Given the description of an element on the screen output the (x, y) to click on. 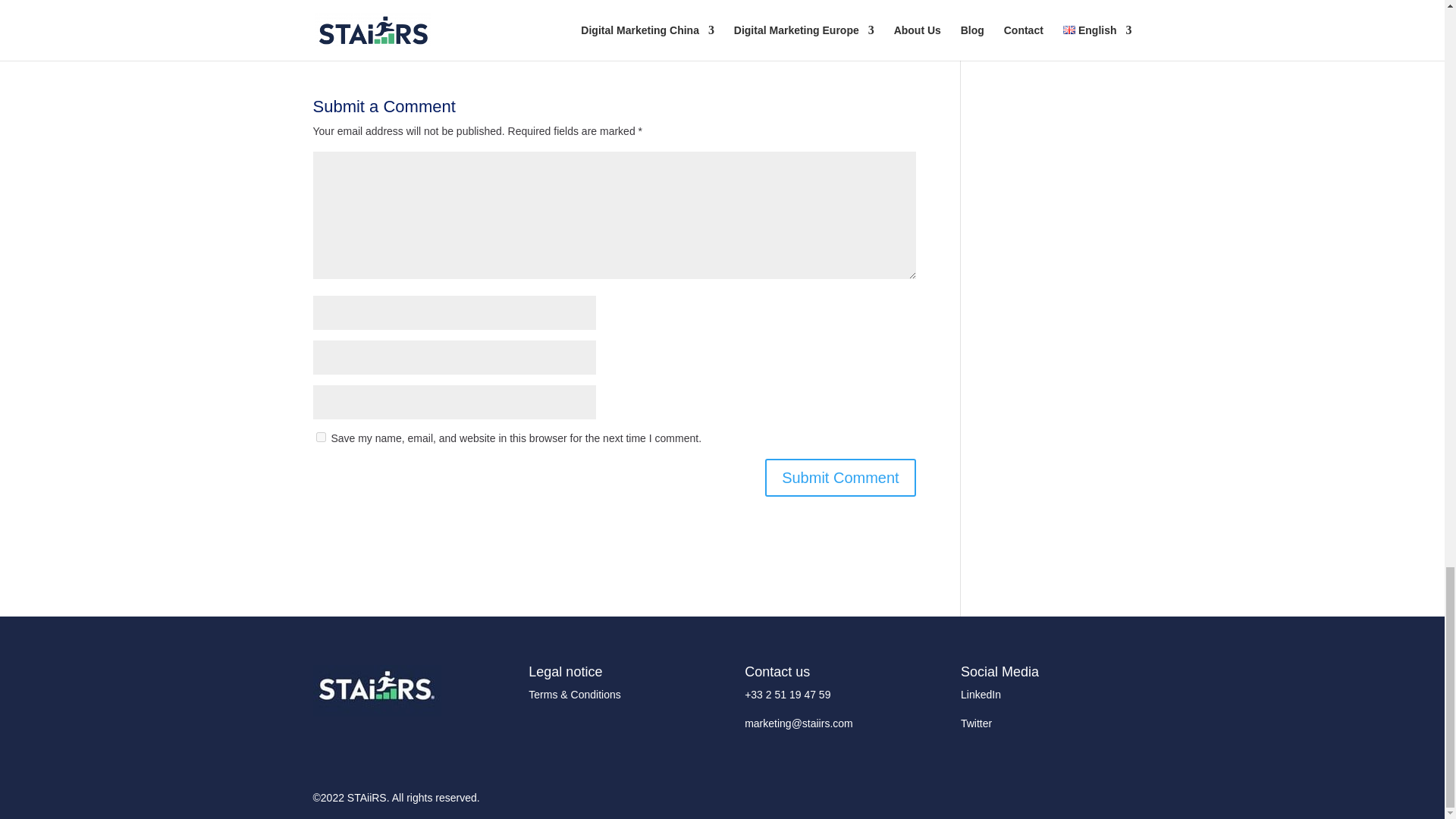
Submit Comment (840, 477)
yes (319, 437)
